Given the description of an element on the screen output the (x, y) to click on. 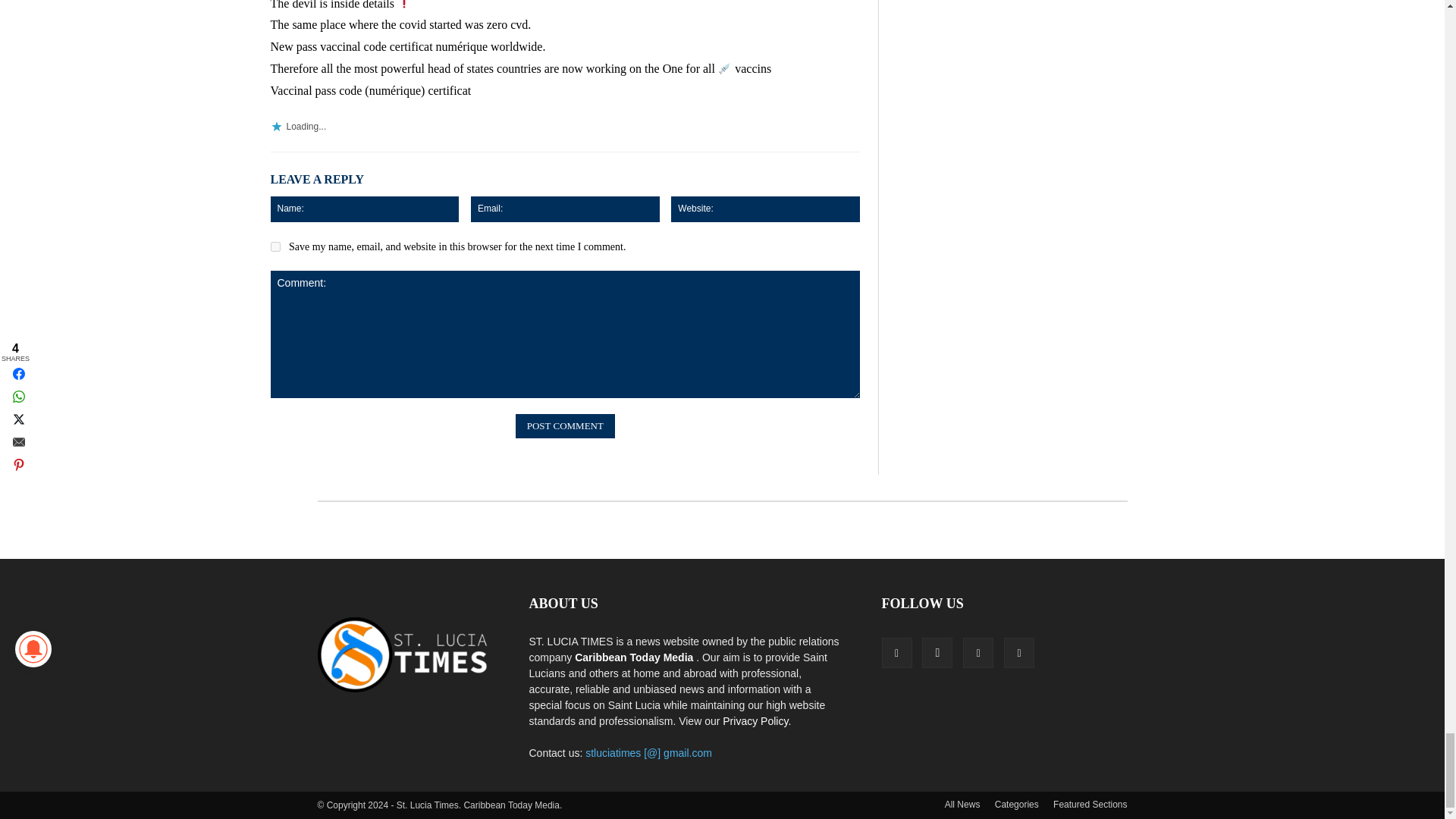
yes (274, 246)
Post Comment (564, 426)
